Given the description of an element on the screen output the (x, y) to click on. 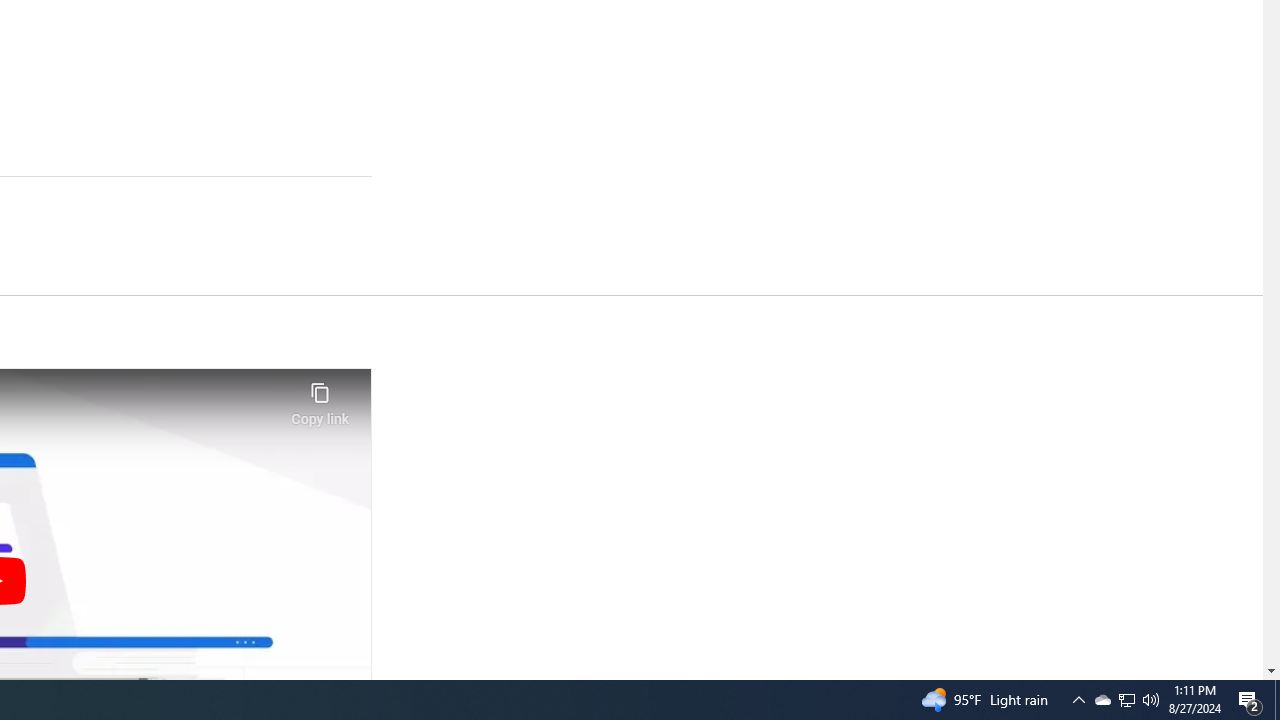
Copy link (319, 398)
